Given the description of an element on the screen output the (x, y) to click on. 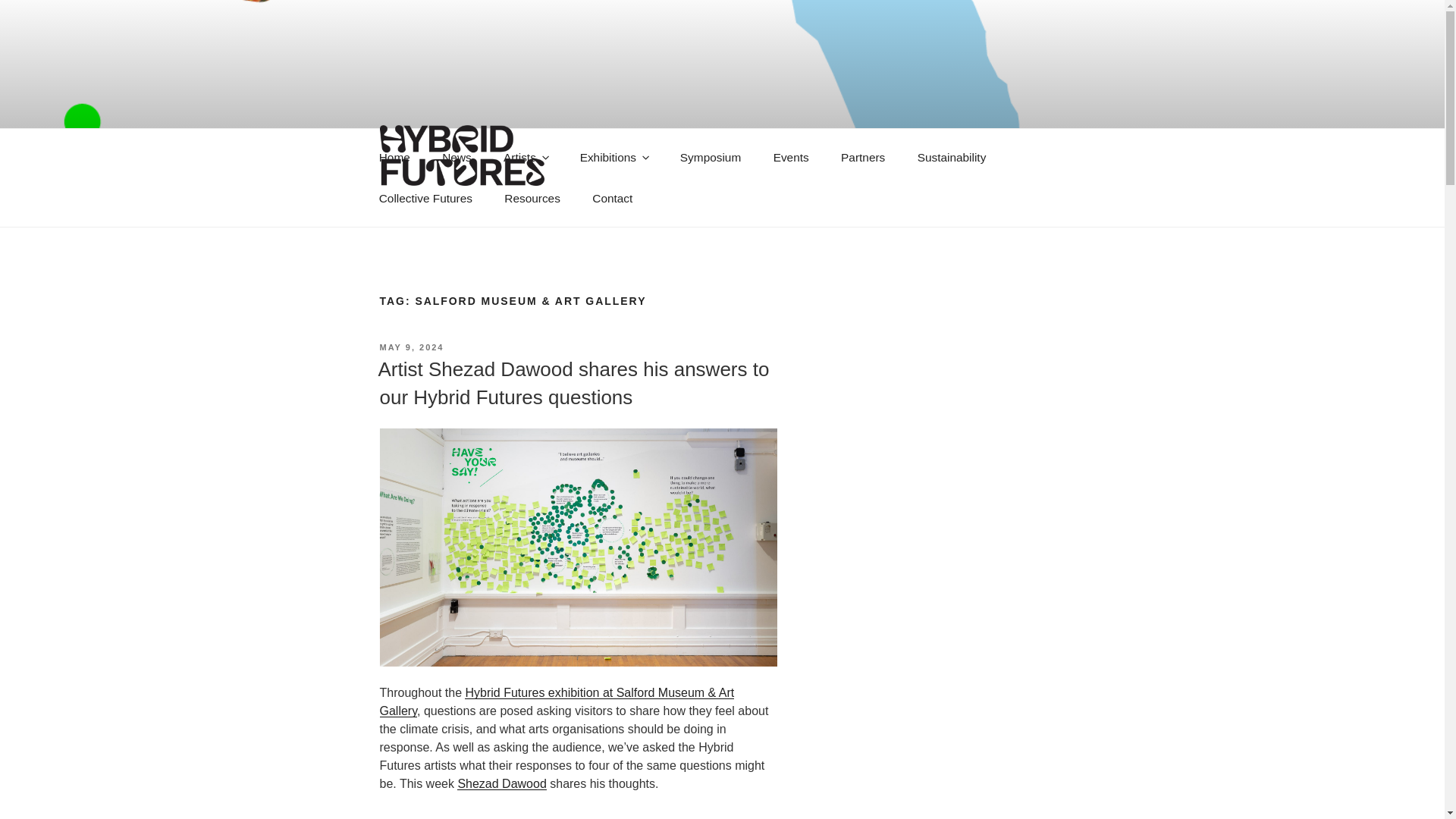
HYBRID FUTURES (514, 207)
Partners (863, 157)
MAY 9, 2024 (411, 347)
Contact (612, 198)
Sustainability (951, 157)
Events (791, 157)
Exhibitions (613, 157)
Shezad Dawood (501, 783)
Home (394, 157)
Symposium (710, 157)
